Given the description of an element on the screen output the (x, y) to click on. 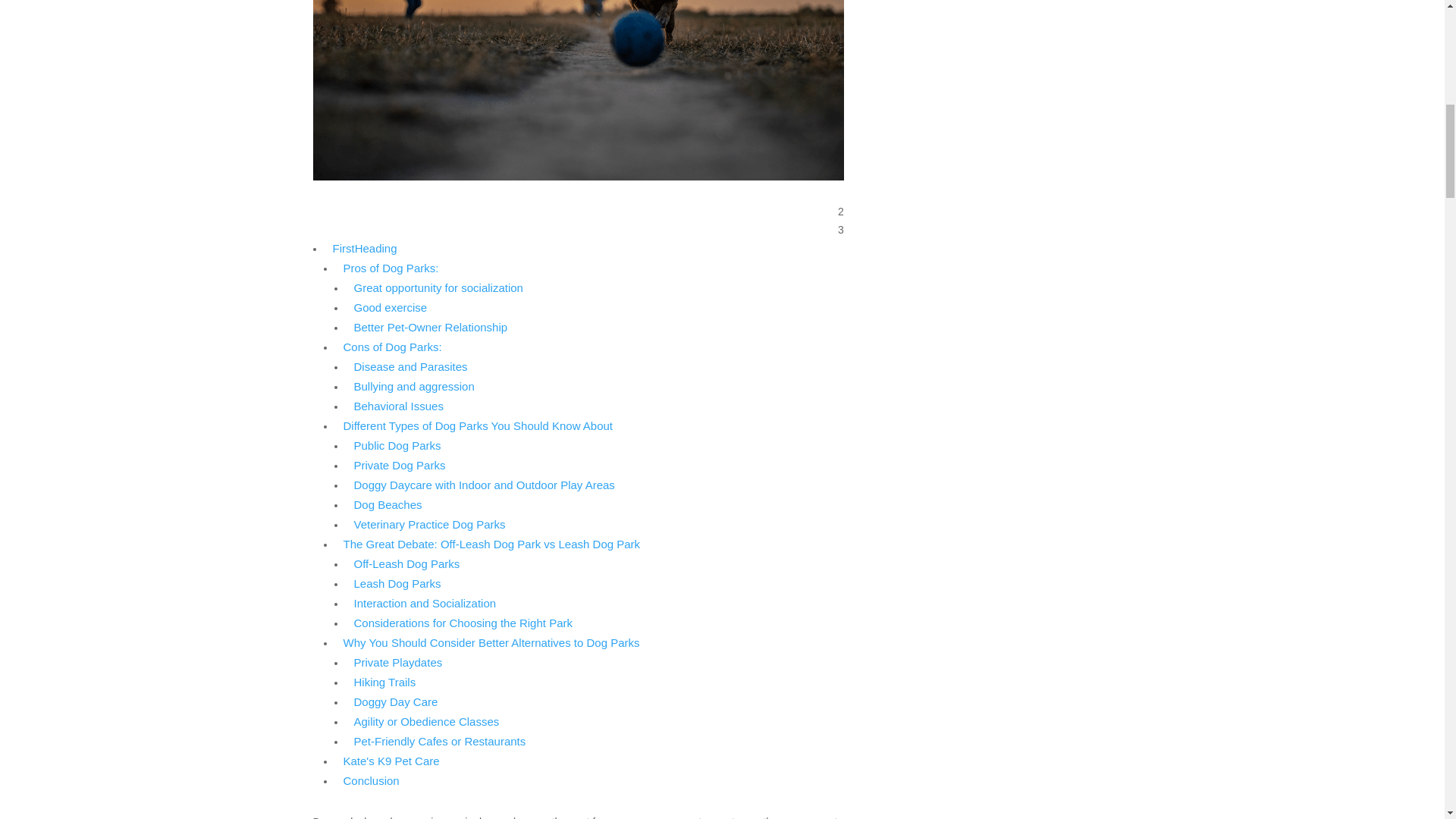
Great opportunity for socialization (437, 288)
Disease and Parasites (410, 367)
Leash Dog Parks (397, 584)
Behavioral Issues (397, 406)
Private Dog Parks (399, 465)
The Great Debate: Off-Leash Dog Park vs Leash Dog Park (491, 544)
Interaction and Socialization (424, 603)
Better Pet-Owner Relationship (429, 327)
Doggy Daycare with Indoor and Outdoor Play Areas (483, 485)
Bullying and aggression (413, 386)
